Given the description of an element on the screen output the (x, y) to click on. 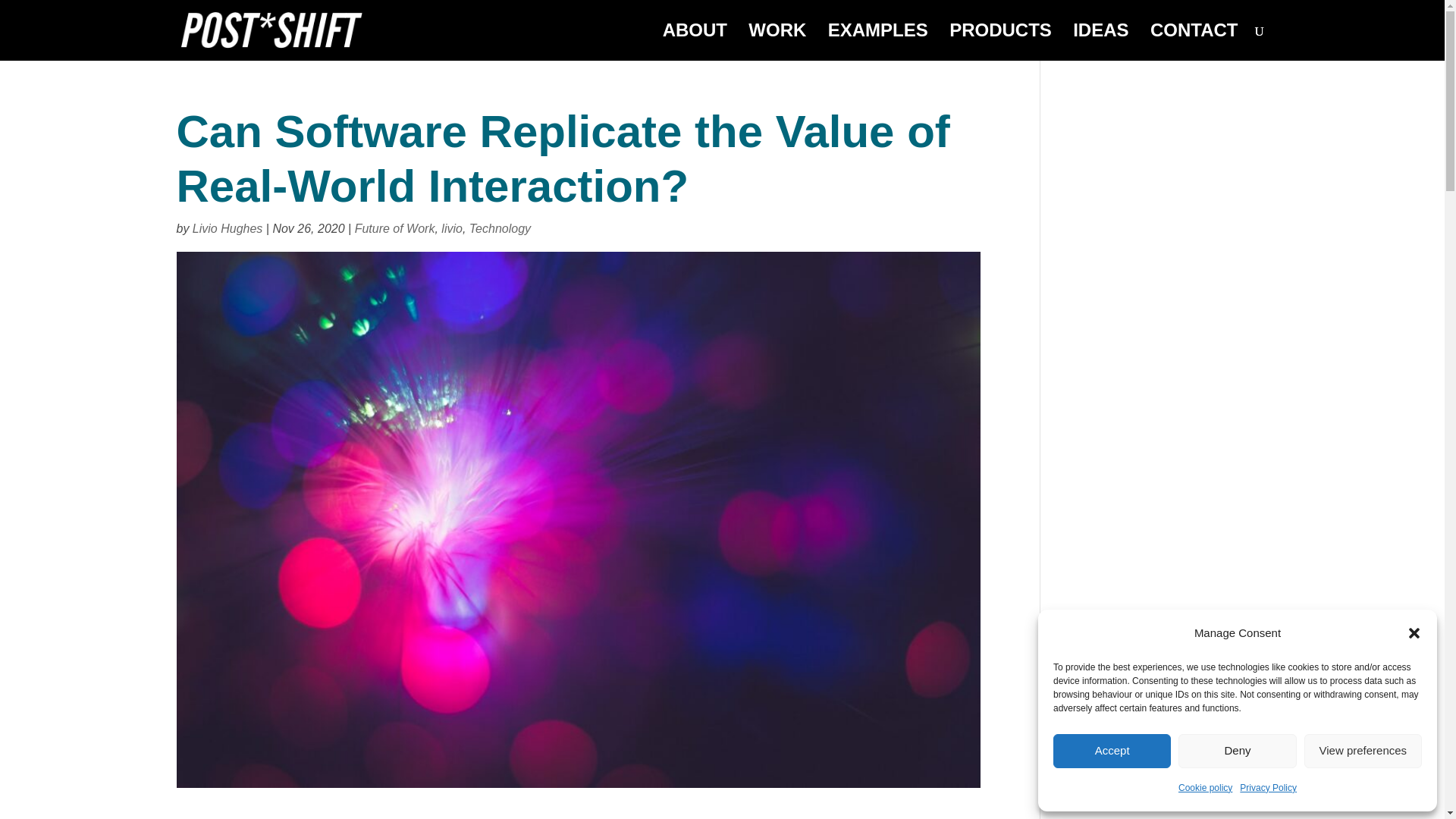
PRODUCTS (1000, 42)
Technology (499, 228)
Livio Hughes (227, 228)
EXAMPLES (878, 42)
Privacy Policy (1268, 787)
WORK (777, 42)
ABOUT (694, 42)
Future of Work (395, 228)
CONTACT (1194, 42)
Accept (1111, 750)
IDEAS (1100, 42)
livio (452, 228)
Posts by Livio Hughes (227, 228)
Deny (1236, 750)
Cookie policy (1204, 787)
